Given the description of an element on the screen output the (x, y) to click on. 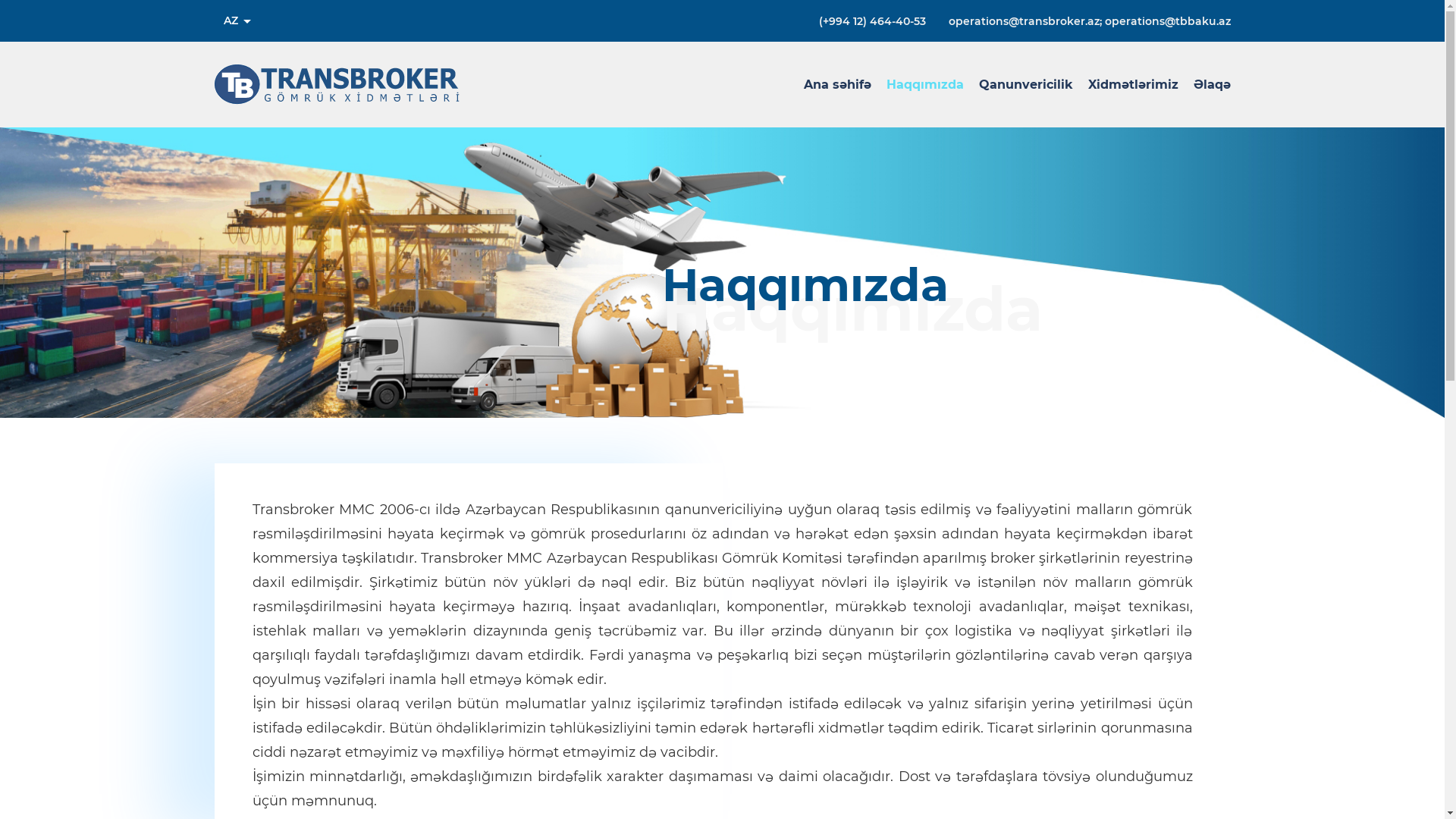
(+994 12) 464-40-53 Element type: text (872, 20)
operations@transbroker.az; operations@tbbaku.az Element type: text (1088, 20)
Qanunvericilik Element type: text (1025, 84)
AZ Element type: text (236, 20)
